Given the description of an element on the screen output the (x, y) to click on. 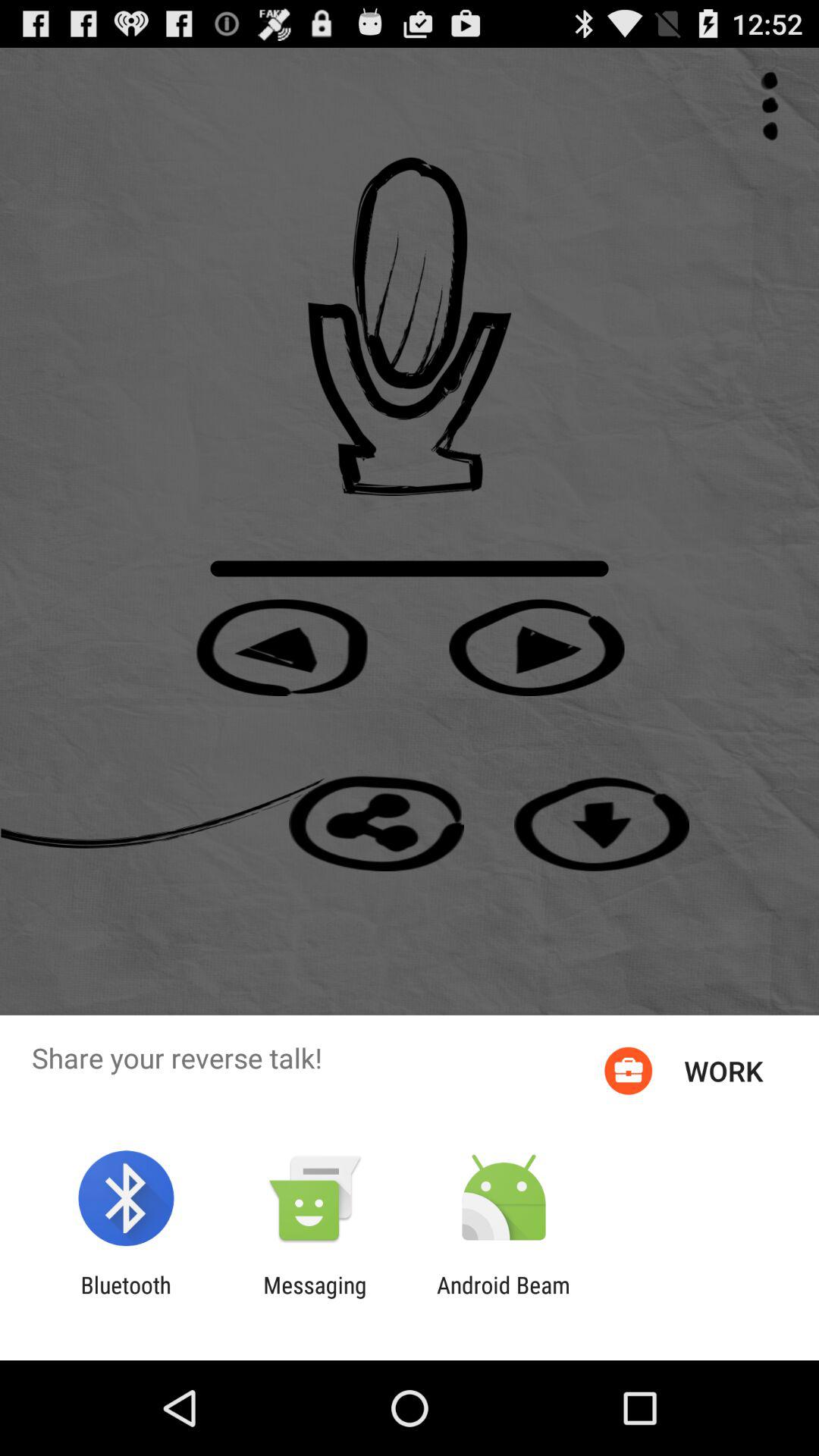
select icon to the left of android beam icon (314, 1298)
